Given the description of an element on the screen output the (x, y) to click on. 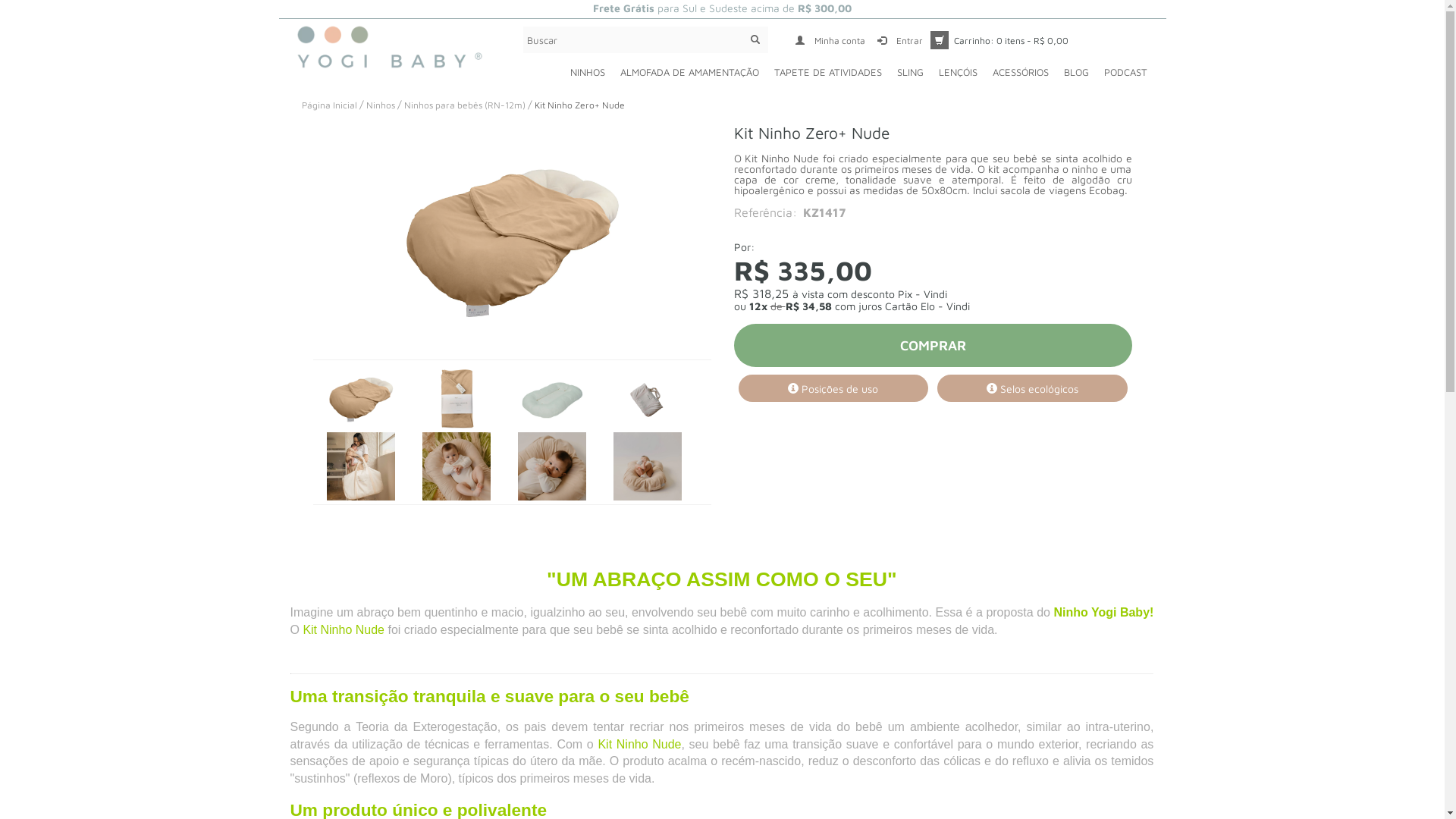
Kit Ninho Zero+ Nude Element type: hover (360, 398)
Minha conta Element type: text (827, 40)
Kit Ninho Zero+ Nude Element type: hover (455, 466)
Kit Ninho Zero+ Nude Element type: hover (511, 237)
Kit Ninho Zero+ Nude Element type: hover (551, 466)
Kit Ninho Zero+ Nude Element type: hover (646, 398)
Ninhos Element type: text (379, 104)
PODCAST Element type: text (1125, 71)
Entrar Element type: text (897, 40)
NINHOS Element type: text (587, 71)
Kit Ninho Zero+ Nude Element type: hover (360, 466)
COMPRAR Element type: text (933, 345)
Kit Ninho Zero+ Nude Element type: hover (551, 398)
BLOG Element type: text (1075, 71)
Kit Ninho Nude Element type: text (638, 743)
Kit Ninho Zero+ Nude Element type: hover (646, 466)
SLING Element type: text (909, 71)
Carrinho: 0 itens - R$ 0,00 Element type: text (999, 39)
Kit Ninho Nude Element type: text (343, 629)
Kit Ninho Zero+ Nude Element type: hover (455, 398)
TAPETE DE ATIVIDADES Element type: text (826, 71)
